Given the description of an element on the screen output the (x, y) to click on. 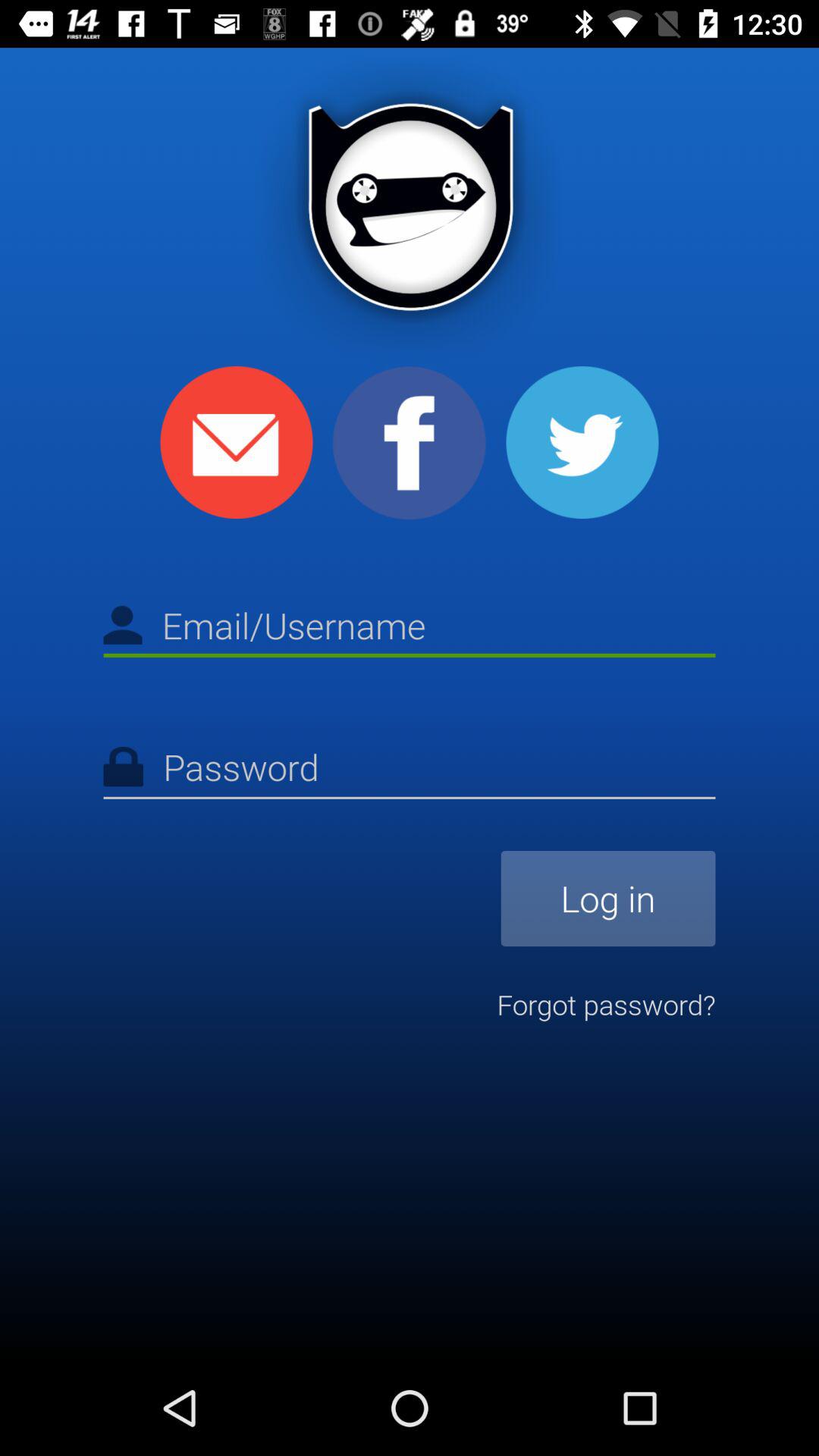
tap icon above forgot password? (608, 898)
